Given the description of an element on the screen output the (x, y) to click on. 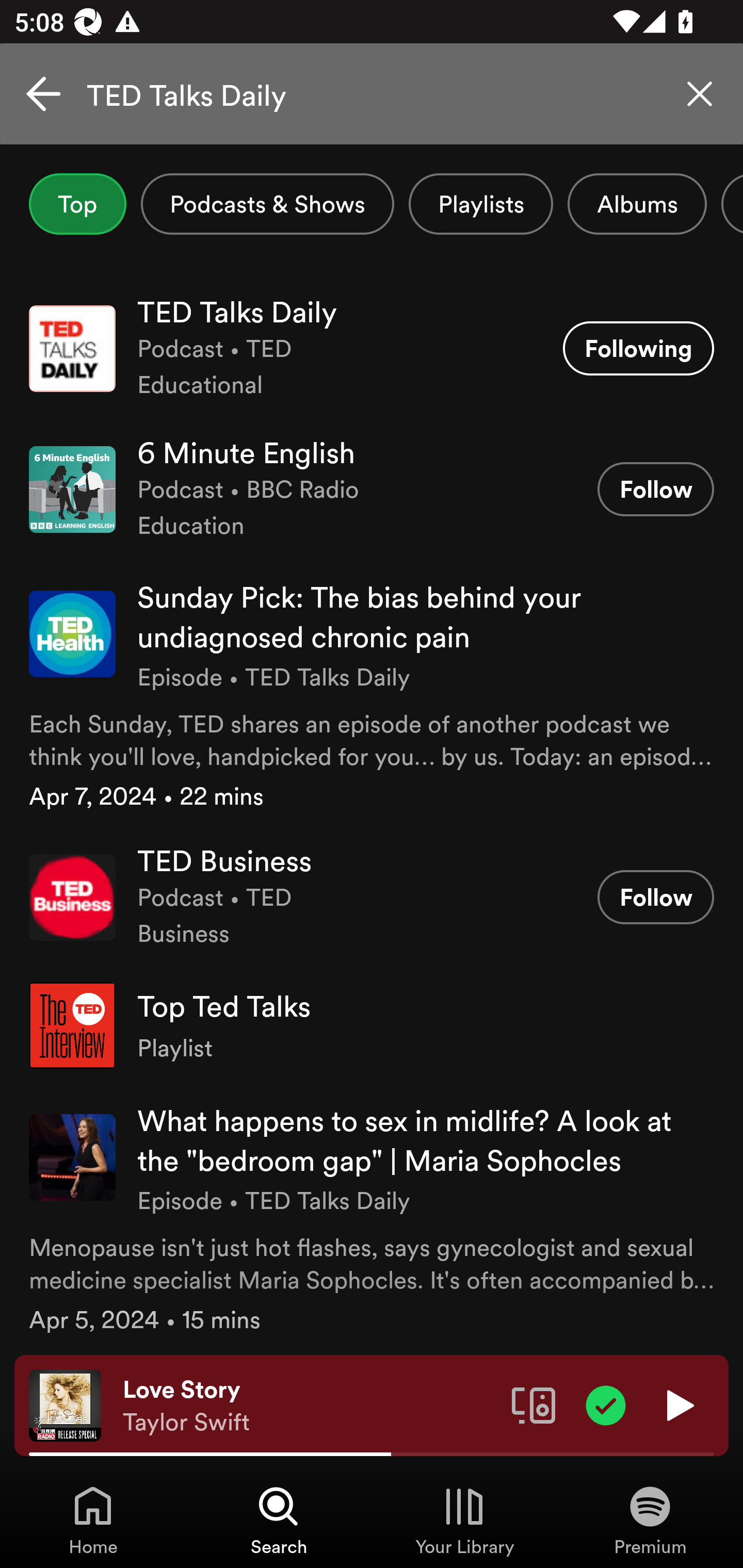
TED Talks Daily (371, 93)
Cancel (43, 93)
Clear search query (699, 93)
Top (77, 203)
Podcasts & Shows (267, 203)
Playlists (480, 203)
Albums (636, 203)
Following Unfollow (638, 347)
Follow (655, 488)
TED Business Podcast • TED Business Follow Follow (371, 896)
Follow (655, 896)
Top Ted Talks Playlist (371, 1025)
Love Story Taylor Swift (309, 1405)
The cover art of the currently playing track (64, 1404)
Connect to a device. Opens the devices menu (533, 1404)
Item added (605, 1404)
Play (677, 1404)
Home, Tab 1 of 4 Home Home (92, 1519)
Search, Tab 2 of 4 Search Search (278, 1519)
Your Library, Tab 3 of 4 Your Library Your Library (464, 1519)
Premium, Tab 4 of 4 Premium Premium (650, 1519)
